Given the description of an element on the screen output the (x, y) to click on. 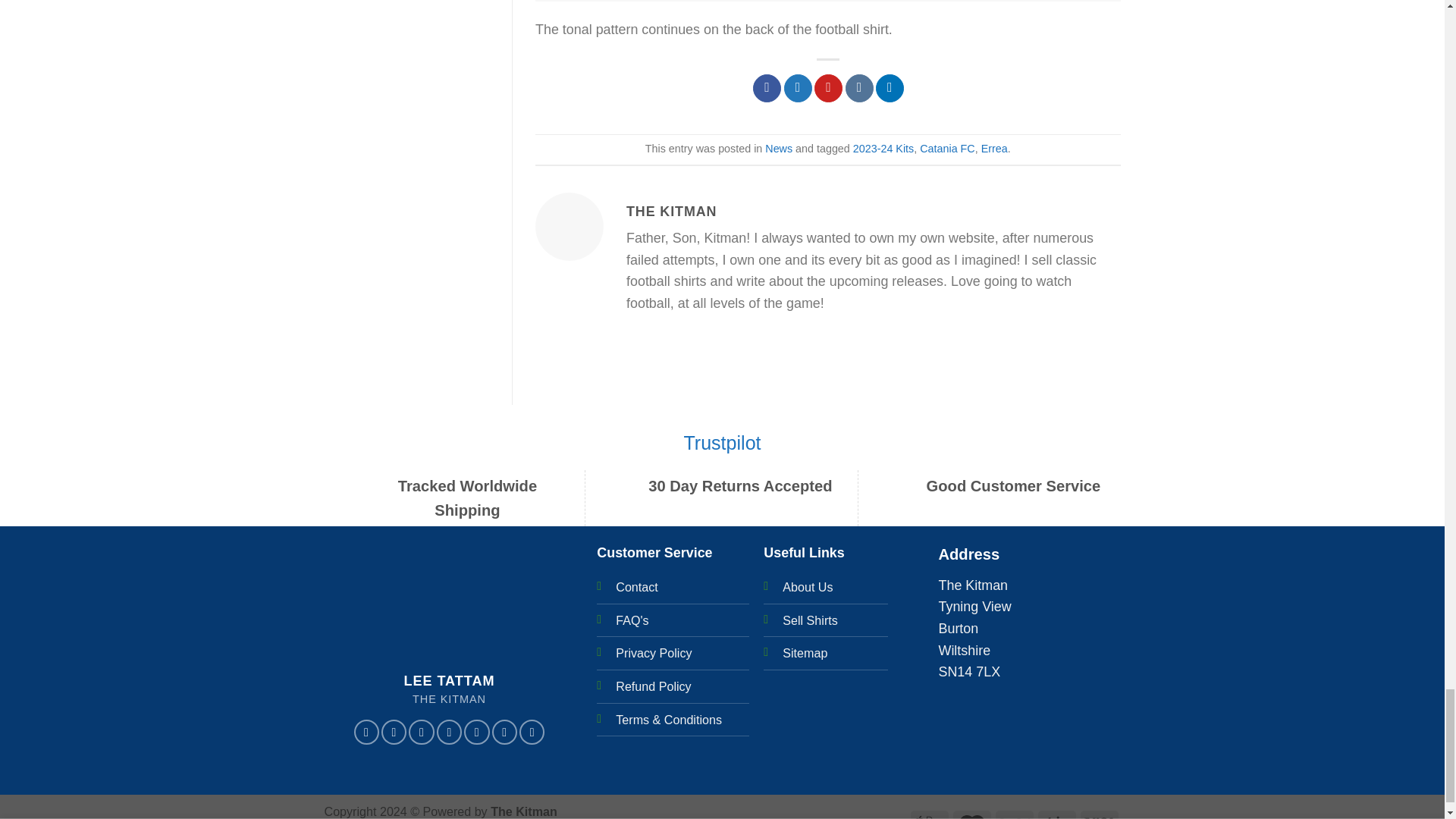
Follow on LinkedIn (531, 731)
Share on VKontakte (859, 88)
Pin on Pinterest (828, 88)
Share on Twitter (798, 88)
Follow on Instagram (393, 731)
Share on Facebook (766, 88)
Follow on X (448, 731)
Follow on Facebook (365, 731)
Call us (504, 731)
Send us an email (476, 731)
